Given the description of an element on the screen output the (x, y) to click on. 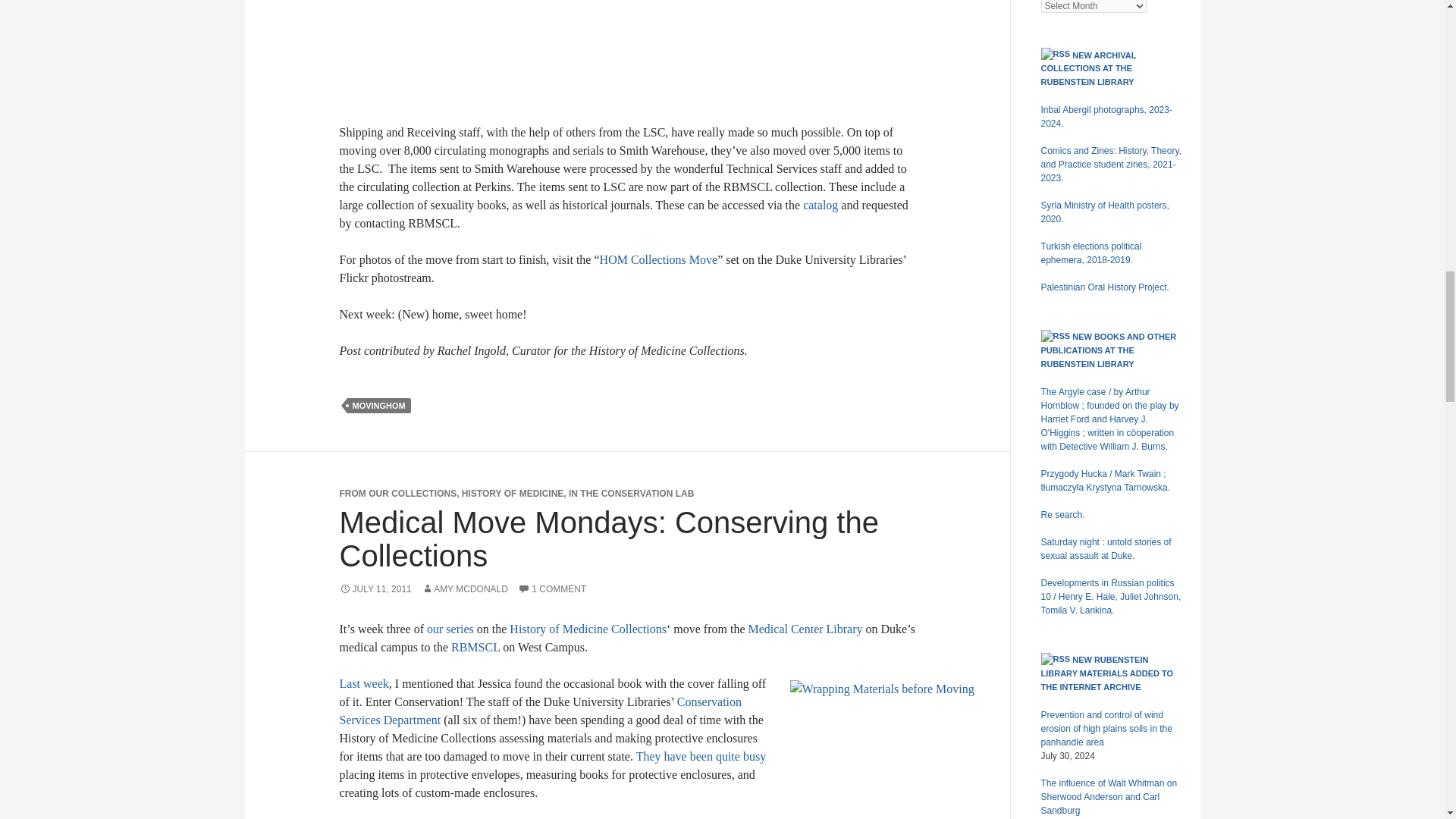
catalog (820, 205)
HOM Collections Move (658, 259)
MOVINGHOM (378, 405)
HISTORY OF MEDICINE (512, 493)
FROM OUR COLLECTIONS (398, 493)
